Given the description of an element on the screen output the (x, y) to click on. 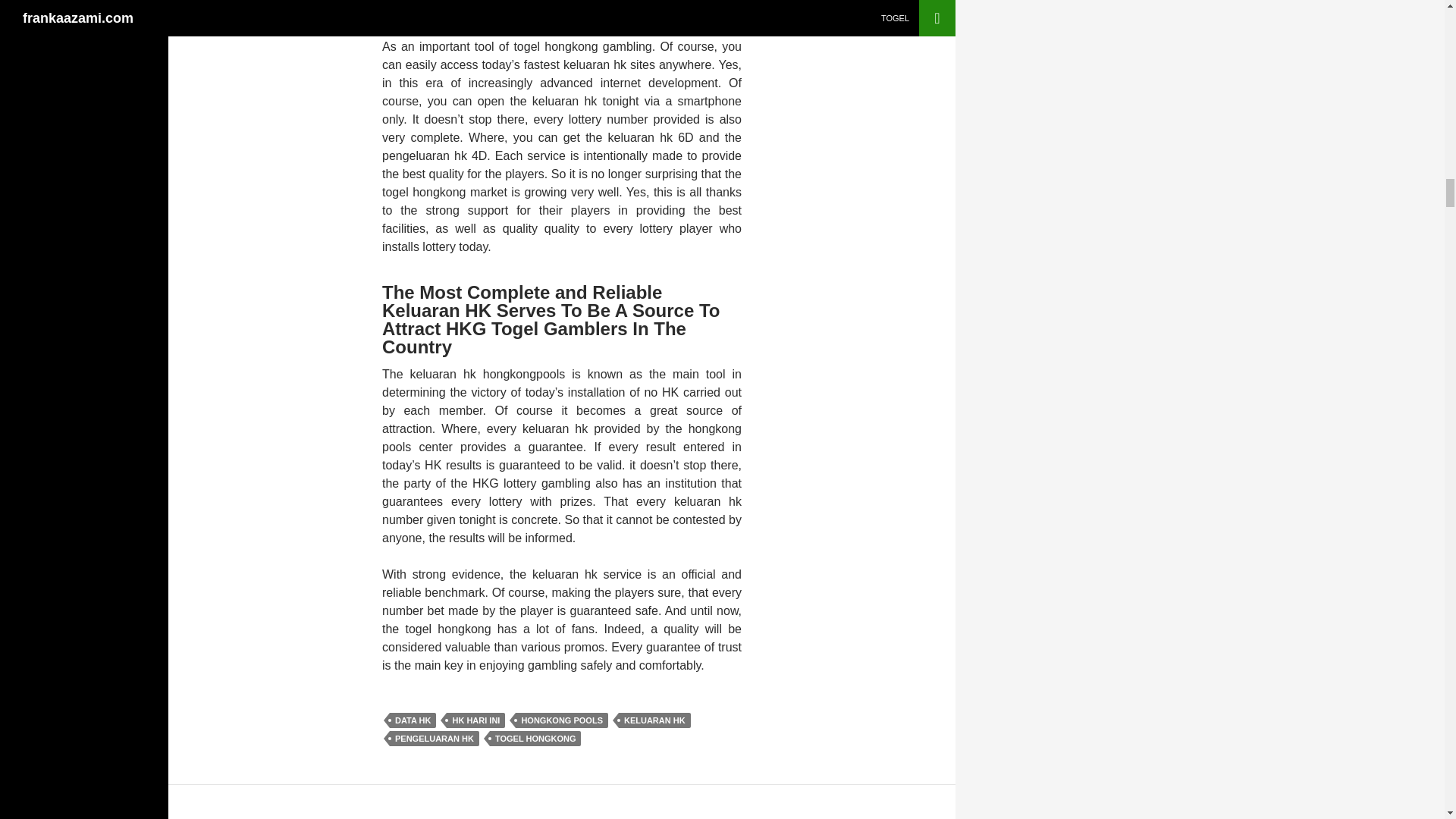
HONGKONG POOLS (561, 720)
DATA HK (412, 720)
HK HARI INI (475, 720)
PENGELUARAN HK (434, 738)
KELUARAN HK (654, 720)
TOGEL HONGKONG (534, 738)
